Given the description of an element on the screen output the (x, y) to click on. 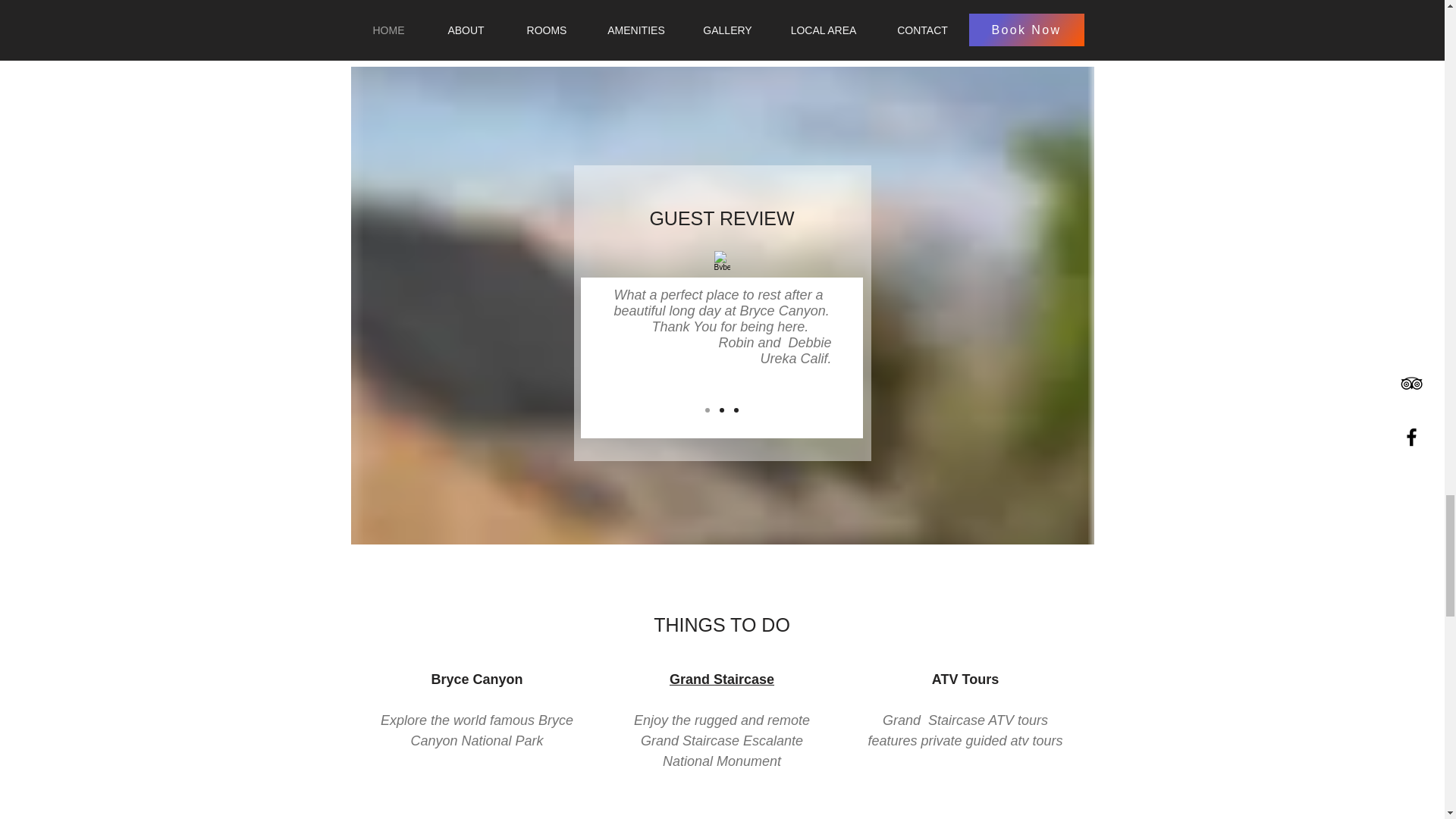
Fresh Coffee (965, 818)
Grand Staircase (721, 679)
Bryce Canyon (476, 679)
ATV Tours (964, 679)
Hiking Guides (476, 818)
